Given the description of an element on the screen output the (x, y) to click on. 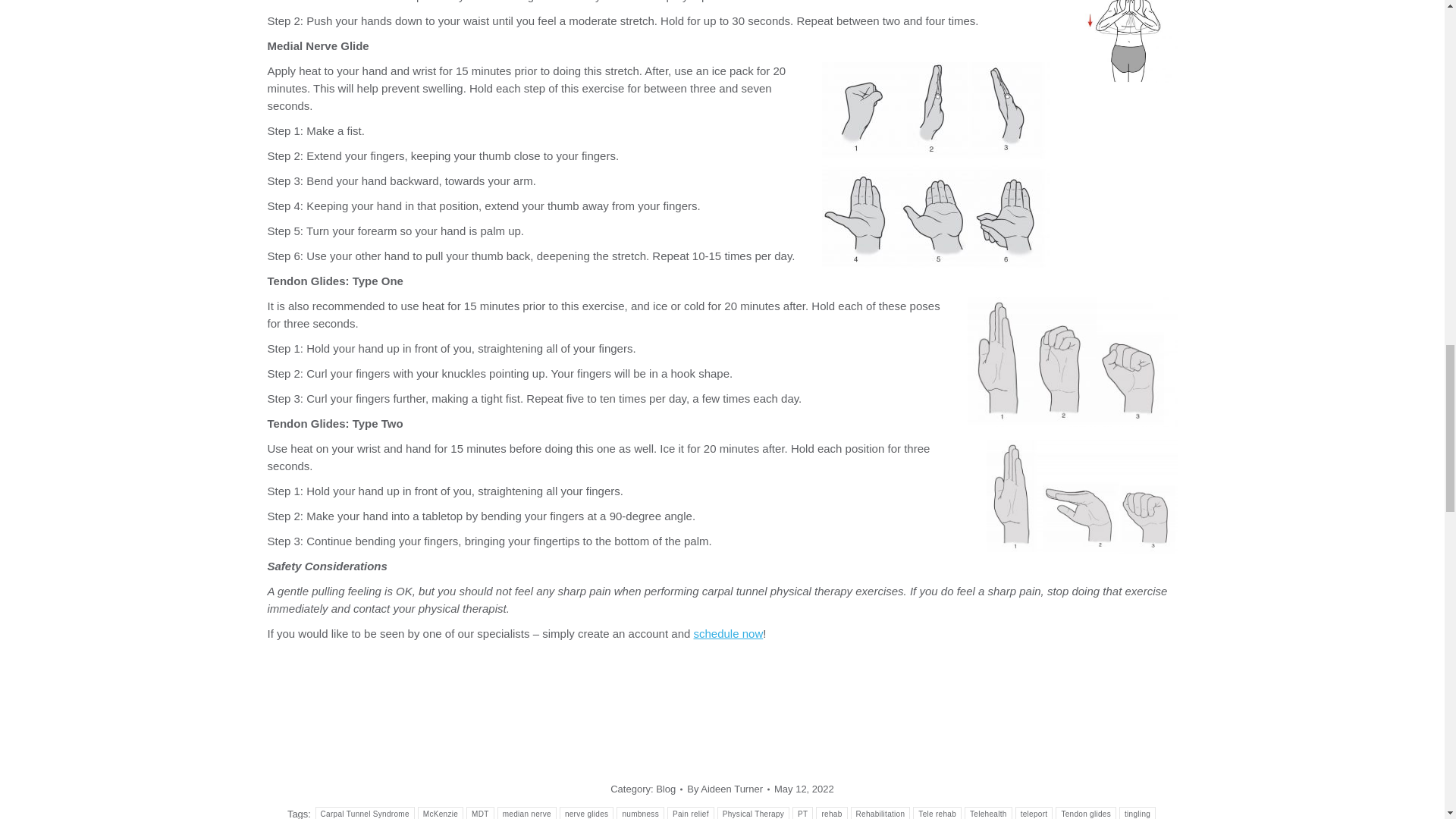
6:11 am (804, 788)
View all posts by Aideen Turner (728, 788)
